Given the description of an element on the screen output the (x, y) to click on. 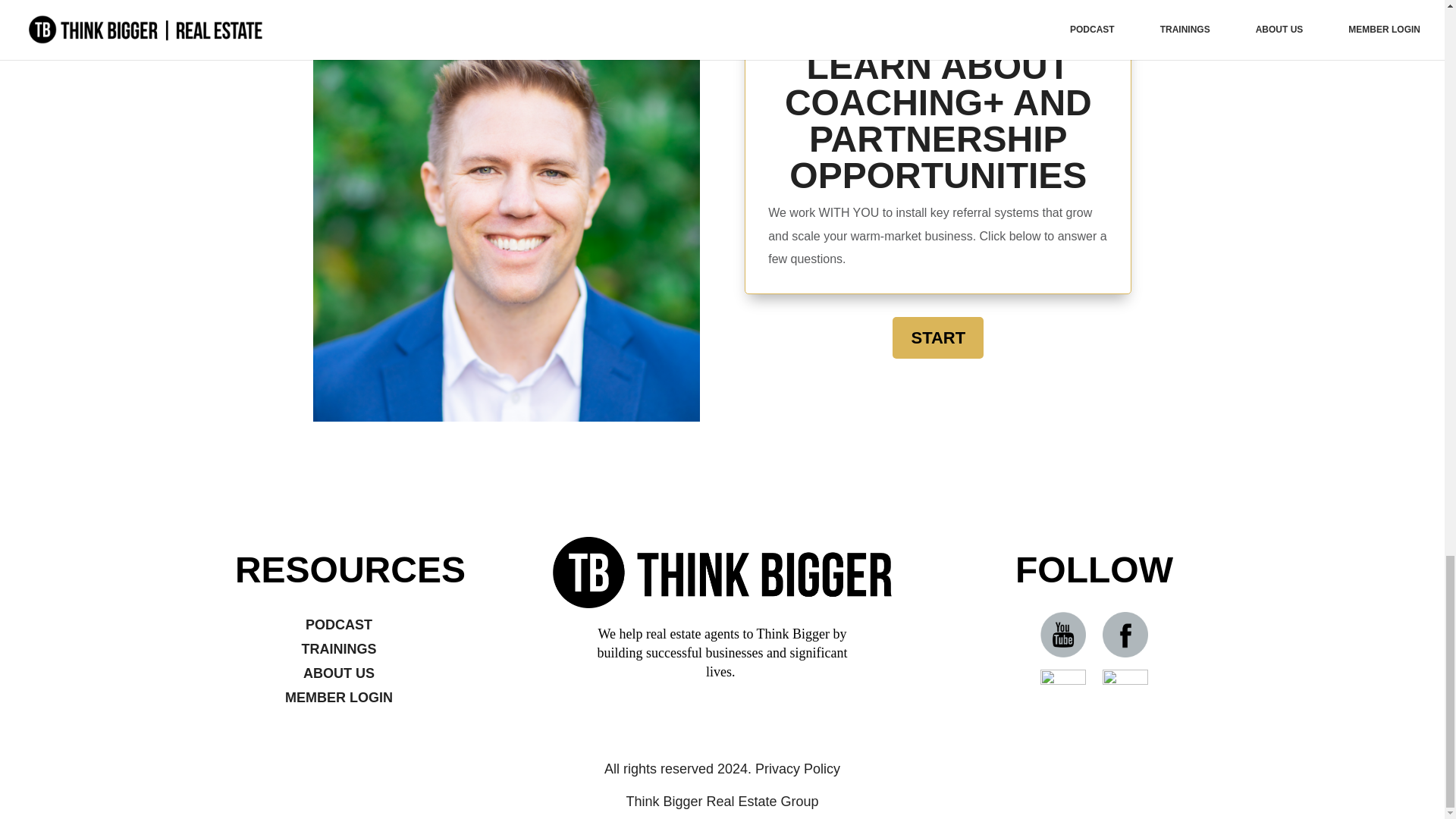
Privacy Policy (797, 768)
ABOUT US (338, 672)
START (938, 337)
TRAININGS (338, 648)
PODCAST (338, 624)
MEMBER LOGIN (339, 697)
